Given the description of an element on the screen output the (x, y) to click on. 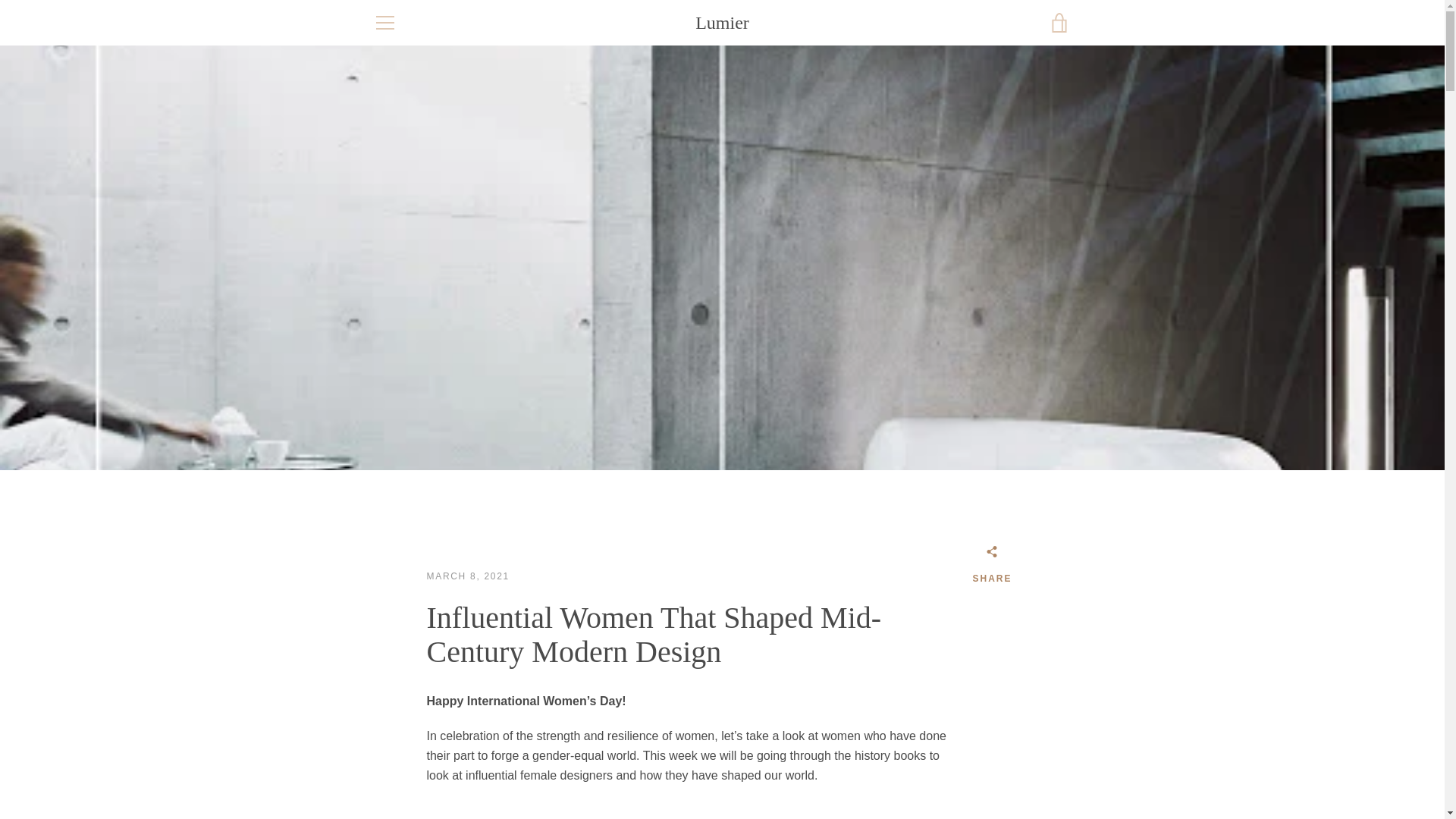
Lumier (722, 23)
VIEW CART (1059, 22)
MENU (384, 22)
SHARE (991, 567)
